Given the description of an element on the screen output the (x, y) to click on. 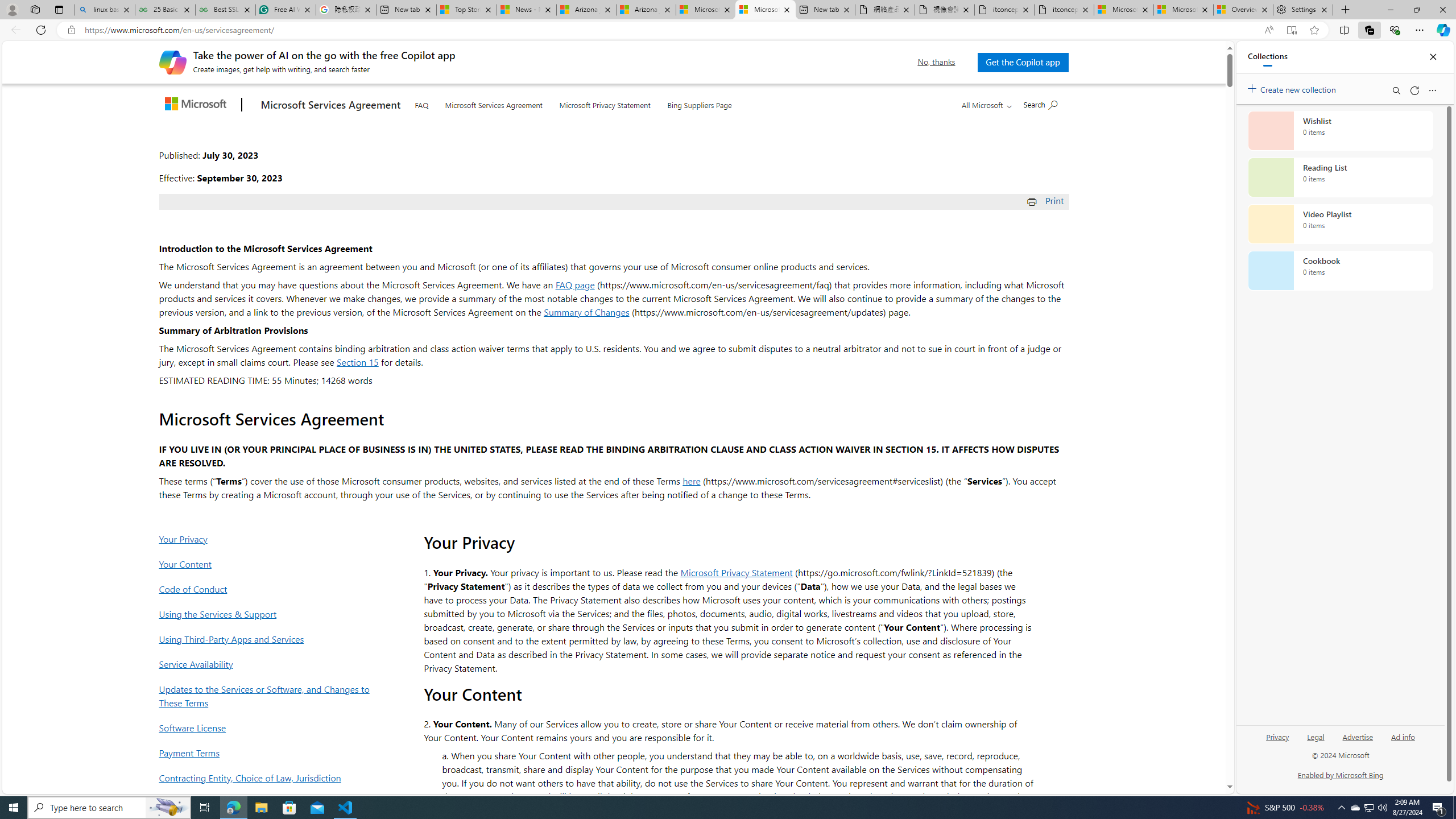
Get the Copilot app  (1022, 62)
Service Availability (267, 663)
Video Playlist collection, 0 items (1339, 223)
Using Third-Party Apps and Services (267, 639)
